Given the description of an element on the screen output the (x, y) to click on. 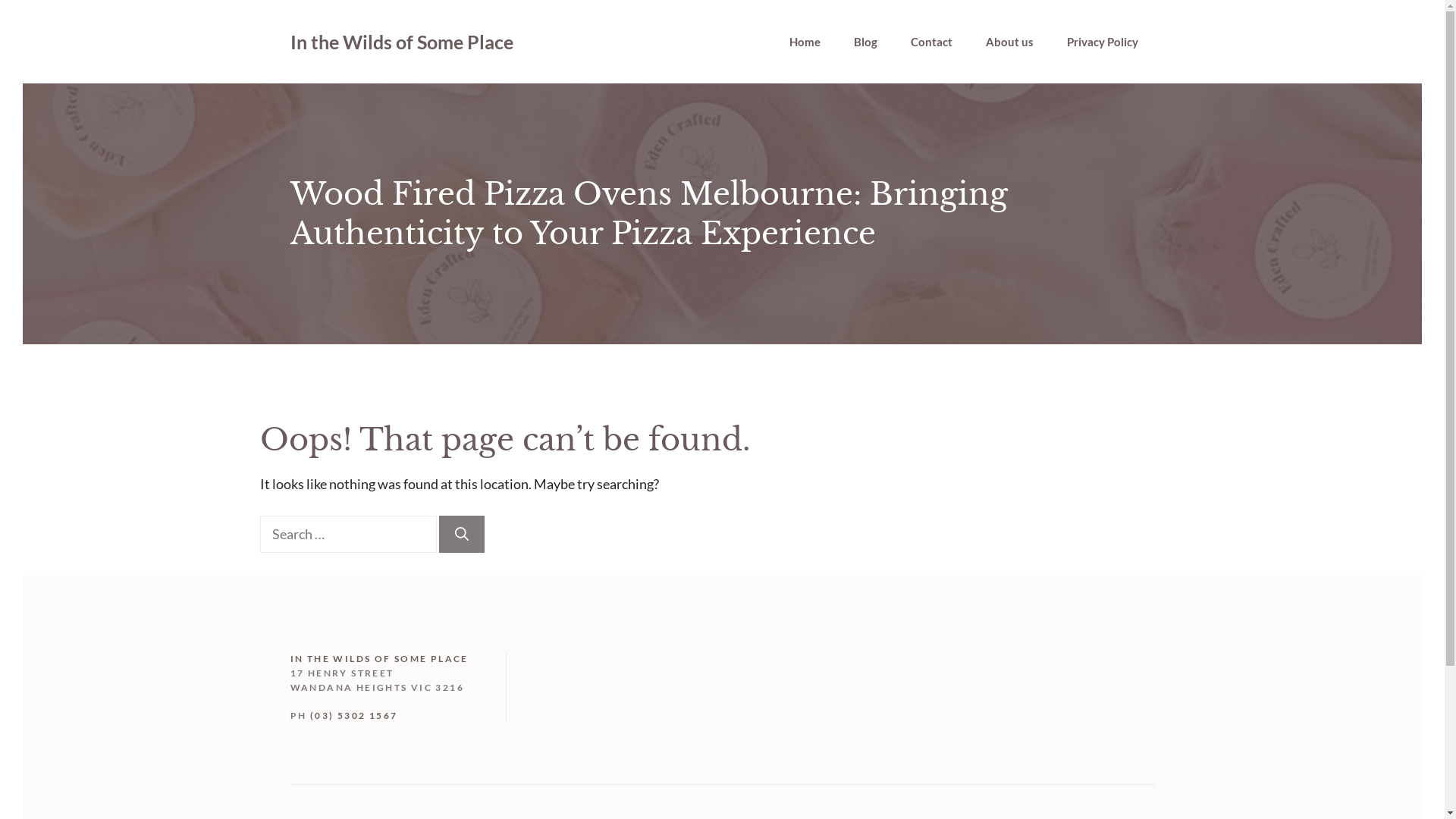
Skip to content Element type: text (21, 21)
Search for: Element type: hover (347, 533)
Contact Element type: text (930, 41)
Home Element type: text (803, 41)
IN THE WILDS OF SOME PLACE Element type: text (378, 658)
(03) 5302 1567 Element type: text (354, 715)
In the Wilds of Some Place Element type: text (400, 41)
Blog Element type: text (865, 41)
Privacy Policy Element type: text (1101, 41)
About us Element type: text (1009, 41)
